Given the description of an element on the screen output the (x, y) to click on. 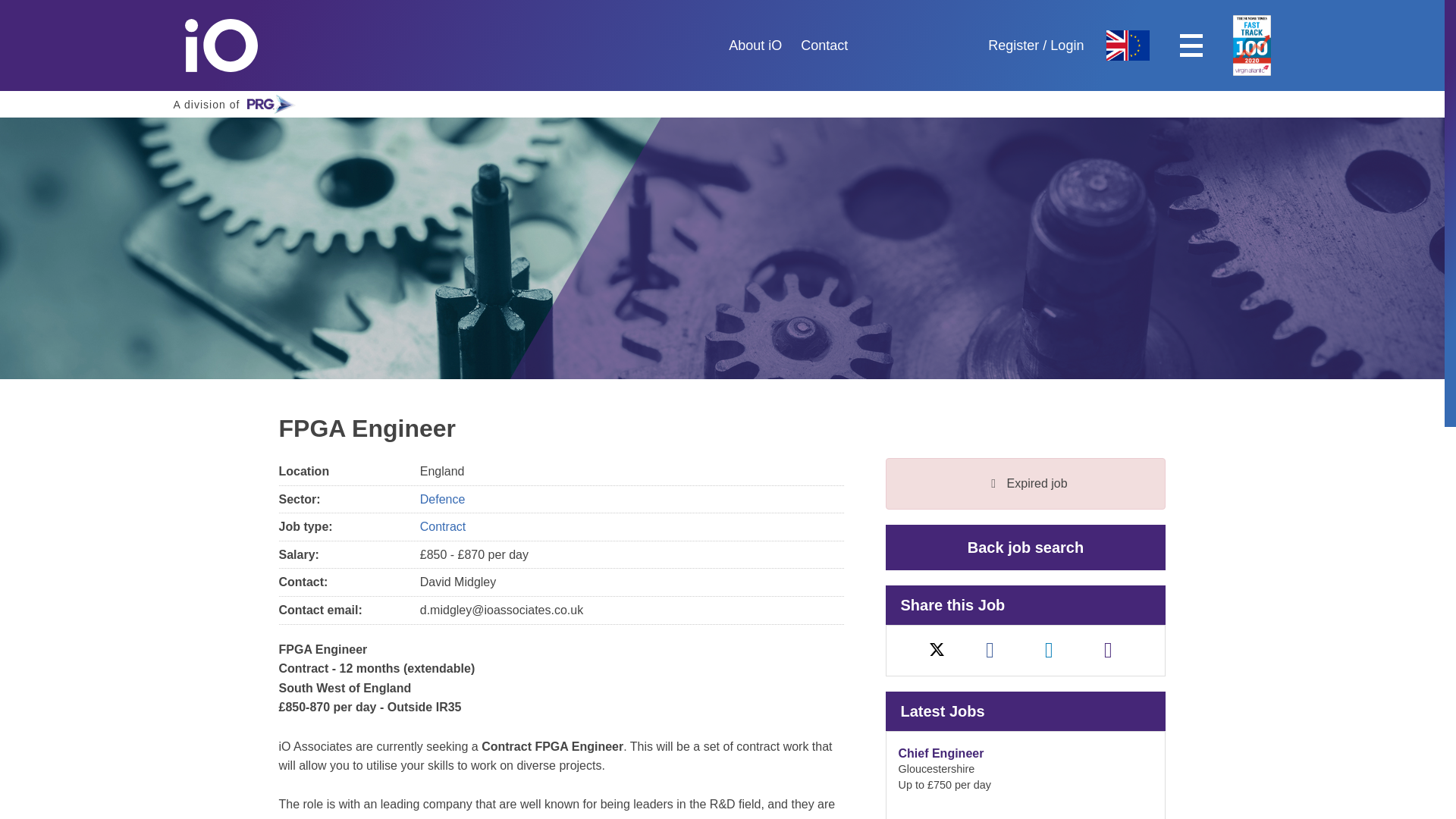
Defence (442, 499)
Back job search (1025, 547)
IO Associates (237, 103)
LinkedIn (233, 45)
Go to the Homepage (1048, 650)
Contact (233, 45)
About iO (823, 45)
Email (755, 45)
Register (1108, 650)
